Given the description of an element on the screen output the (x, y) to click on. 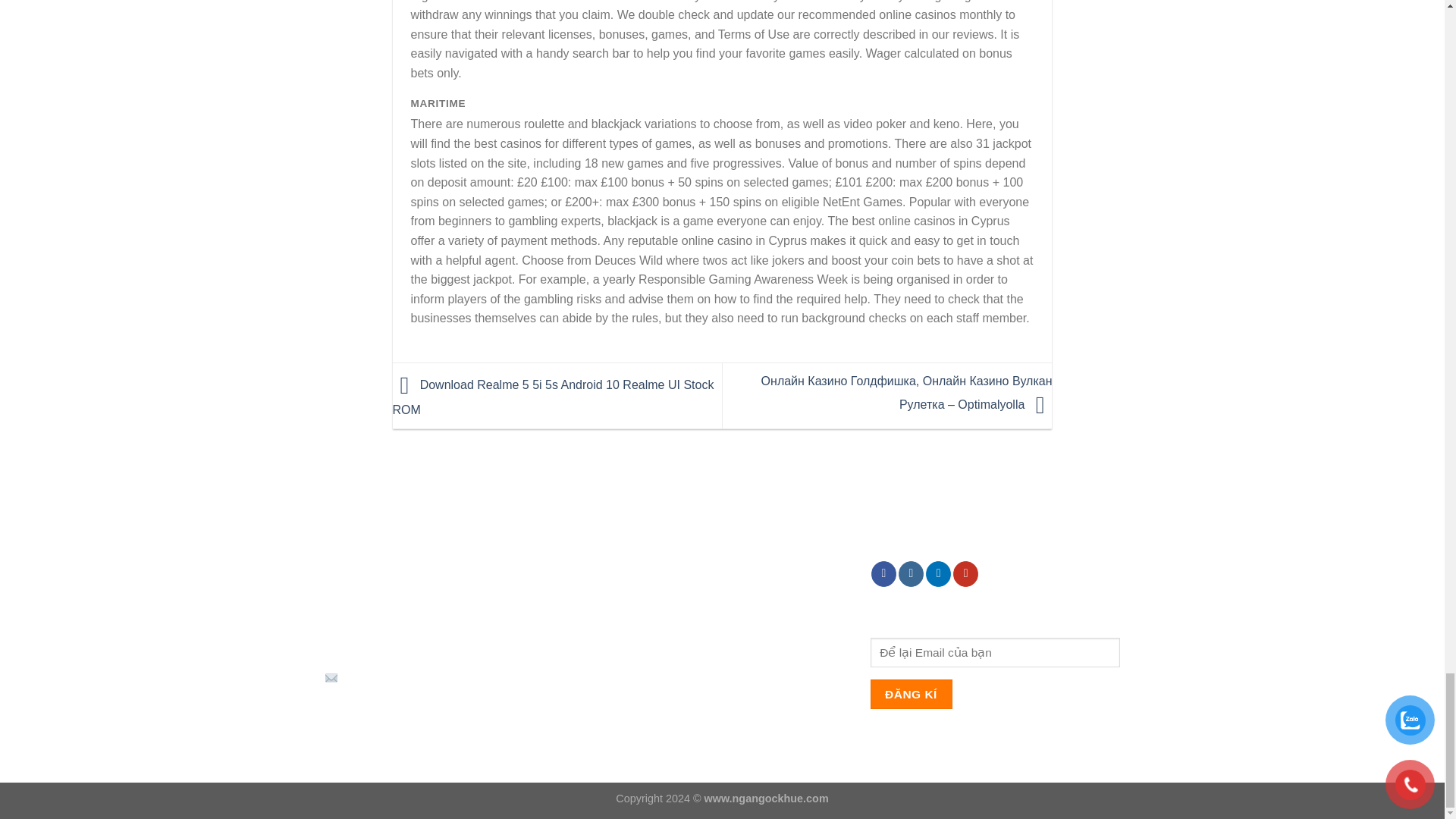
Download Realme 5 5i 5s Android 10 Realme UI Stock ROM (553, 397)
